Given the description of an element on the screen output the (x, y) to click on. 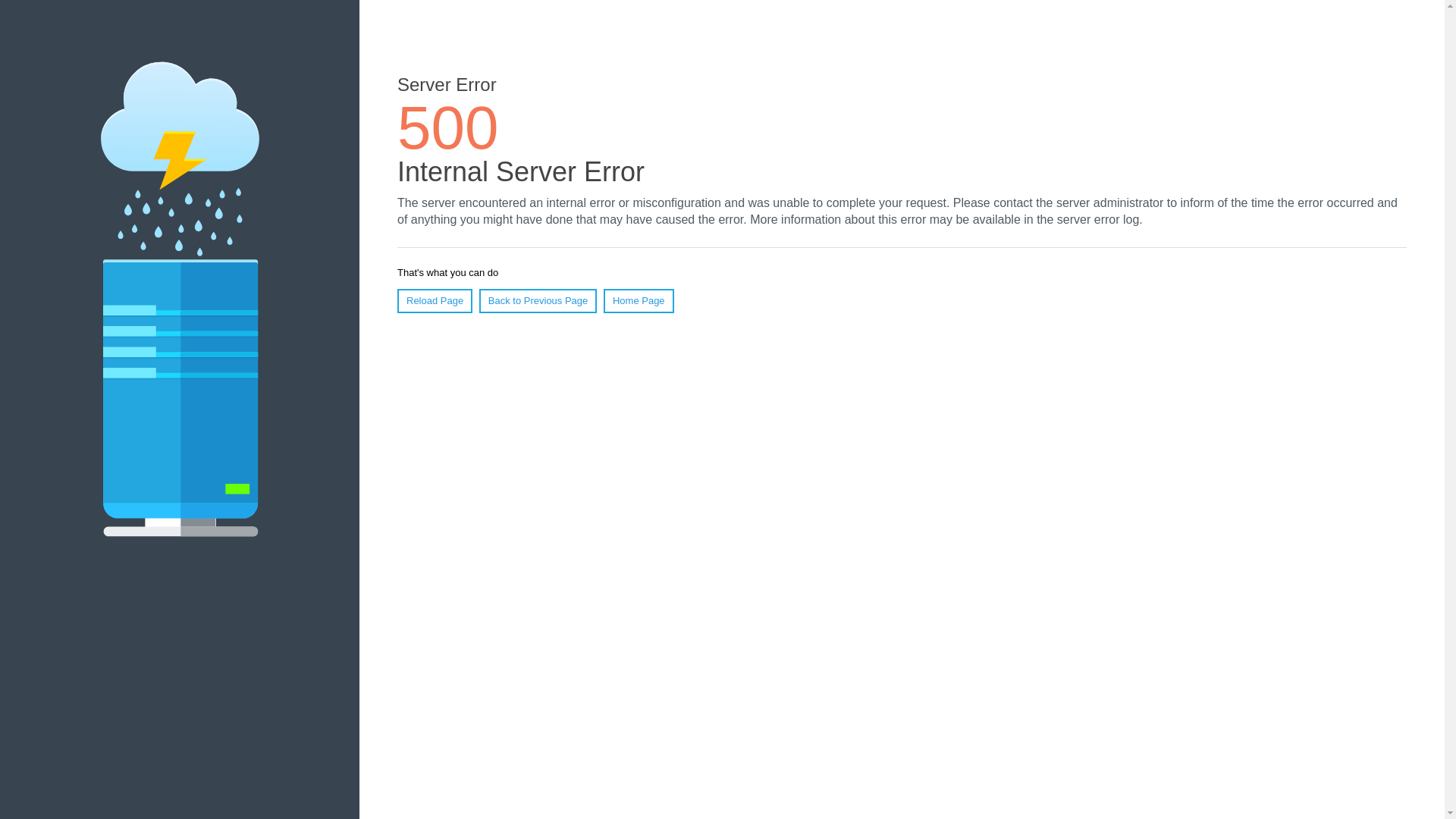
Reload Page Element type: text (434, 300)
Back to Previous Page Element type: text (538, 300)
Home Page Element type: text (638, 300)
